Given the description of an element on the screen output the (x, y) to click on. 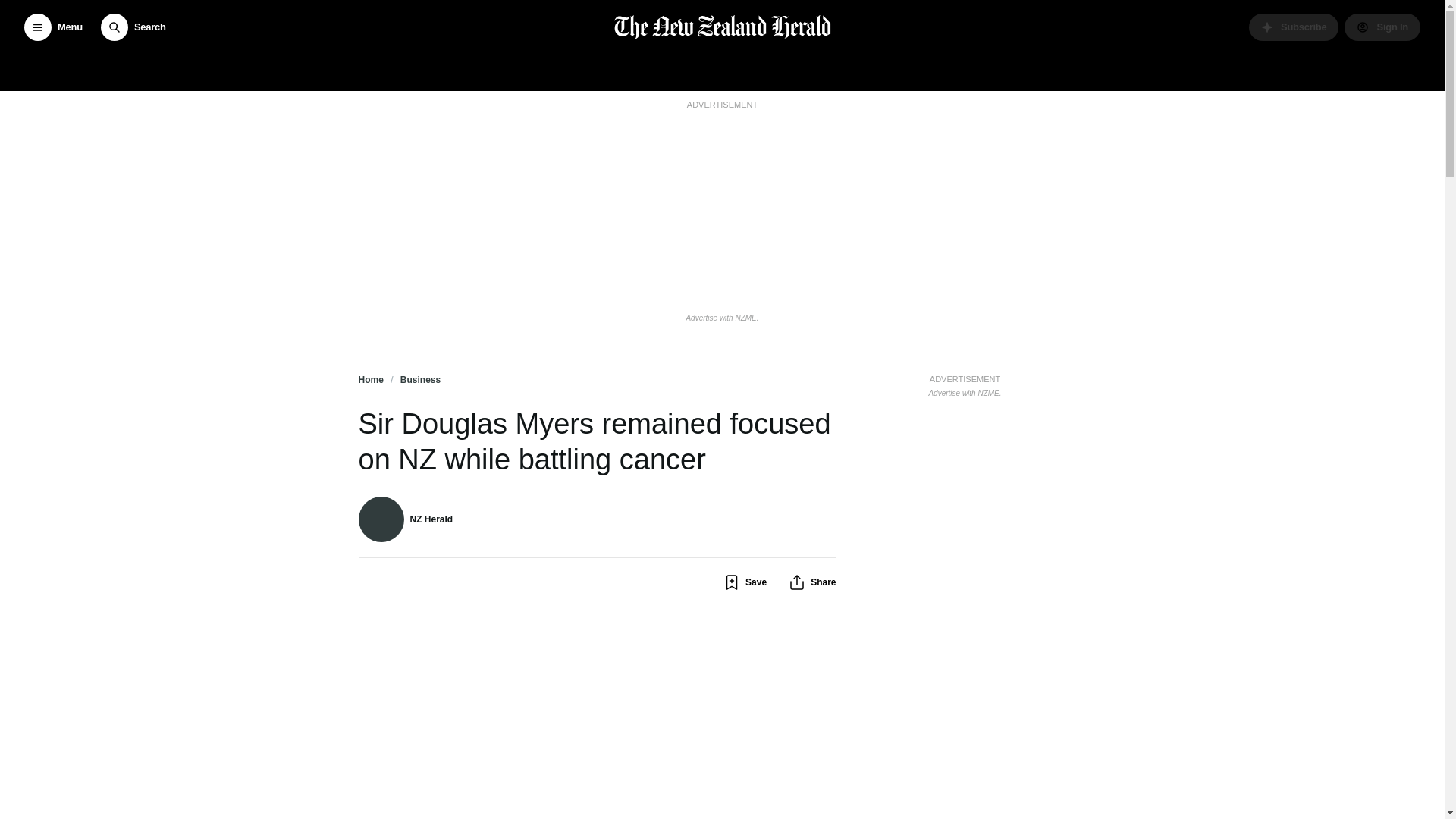
Menu (53, 26)
Manage your account (1382, 26)
Search (132, 26)
Sign In (1382, 26)
Subscribe (1294, 26)
